Given the description of an element on the screen output the (x, y) to click on. 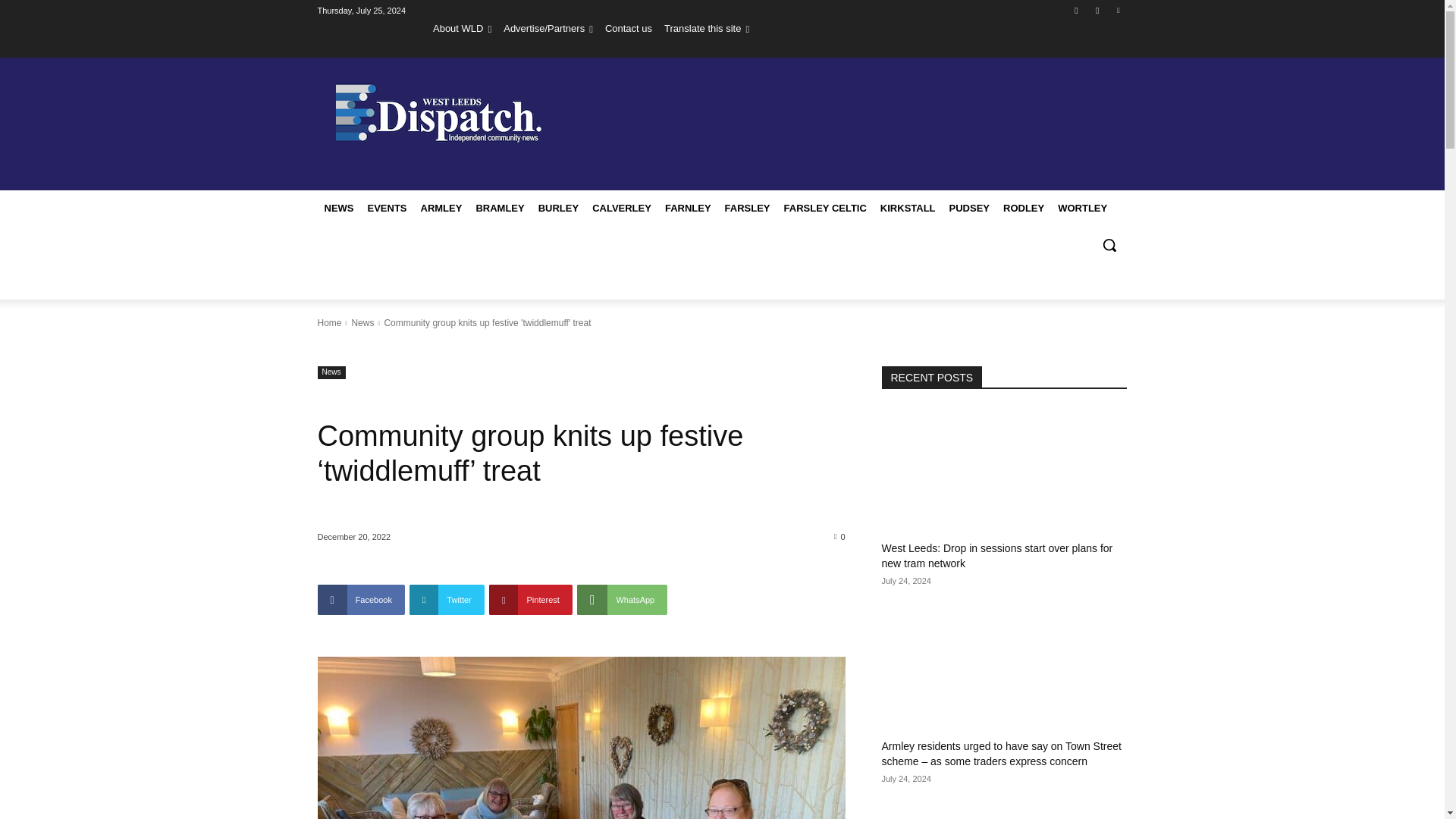
Contact us (628, 28)
About WLD (462, 28)
Translate this site (706, 28)
